Given the description of an element on the screen output the (x, y) to click on. 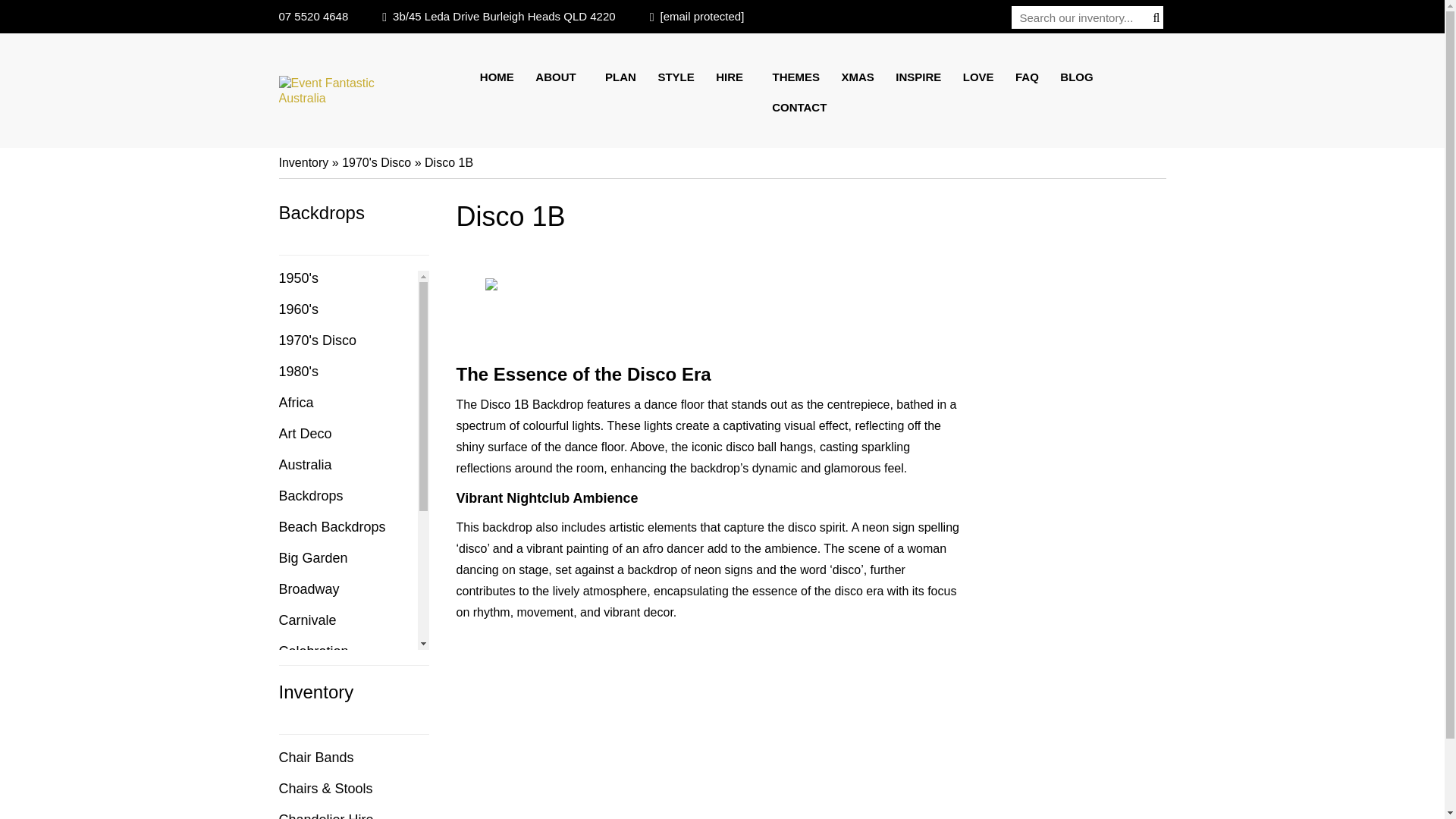
Style (675, 77)
STYLE (675, 77)
Home (501, 77)
HOME (501, 77)
Plan (620, 77)
07 5520 4648 (314, 15)
Hire (733, 77)
PLAN (620, 77)
ABOUT (558, 77)
HIRE (733, 77)
ABOUT (558, 77)
